Given the description of an element on the screen output the (x, y) to click on. 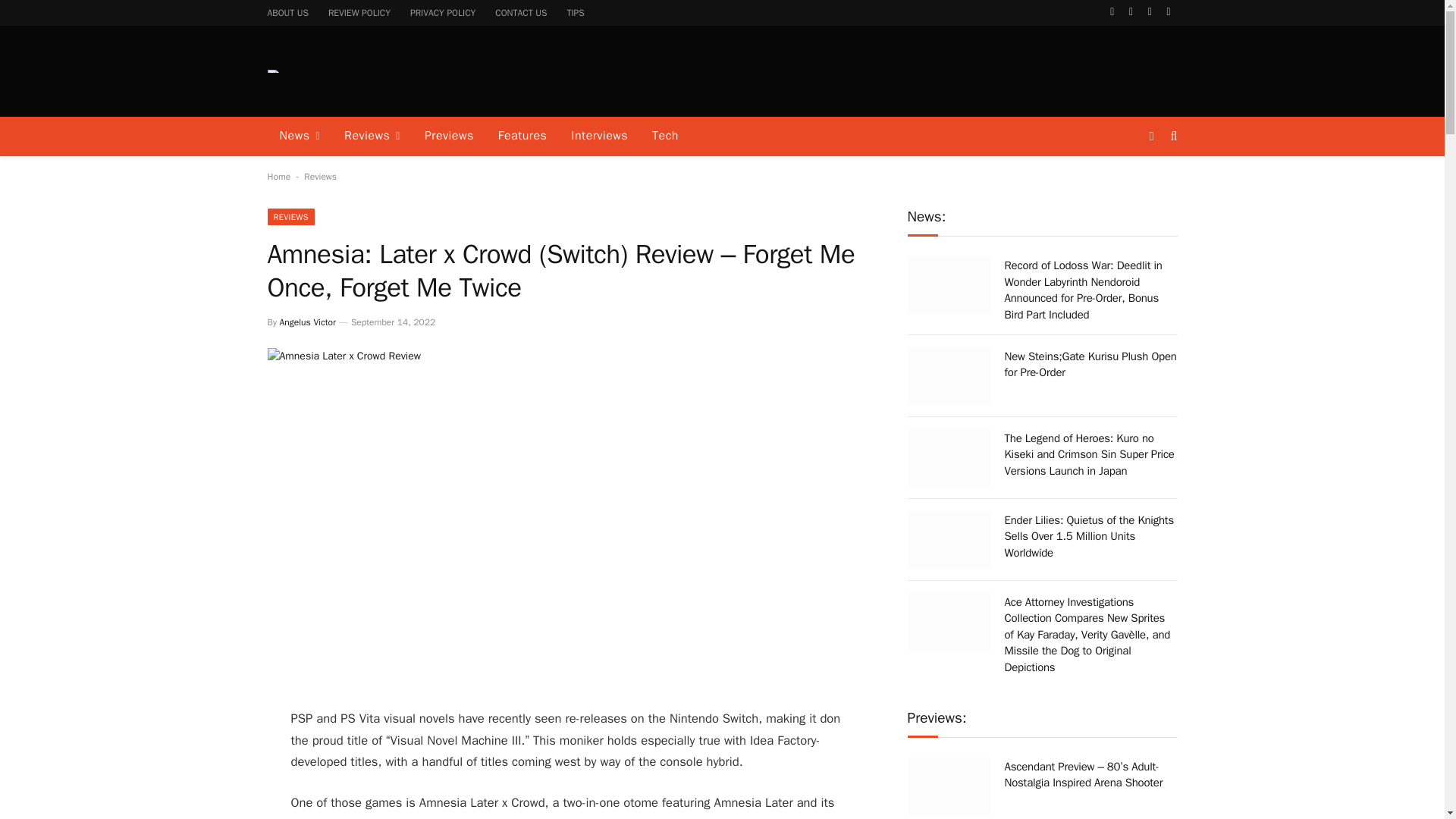
REVIEW POLICY (359, 12)
Reviews (371, 136)
CONTACT US (520, 12)
PRIVACY POLICY (442, 12)
Features (522, 136)
Home (277, 176)
Tech (665, 136)
Posts by Angelus Victor (307, 322)
News (298, 136)
Switch to Dark Design - easier on eyes. (1151, 136)
Reviews (320, 176)
Angelus Victor (307, 322)
REVIEWS (290, 216)
TIPS (575, 12)
ABOUT US (287, 12)
